Given the description of an element on the screen output the (x, y) to click on. 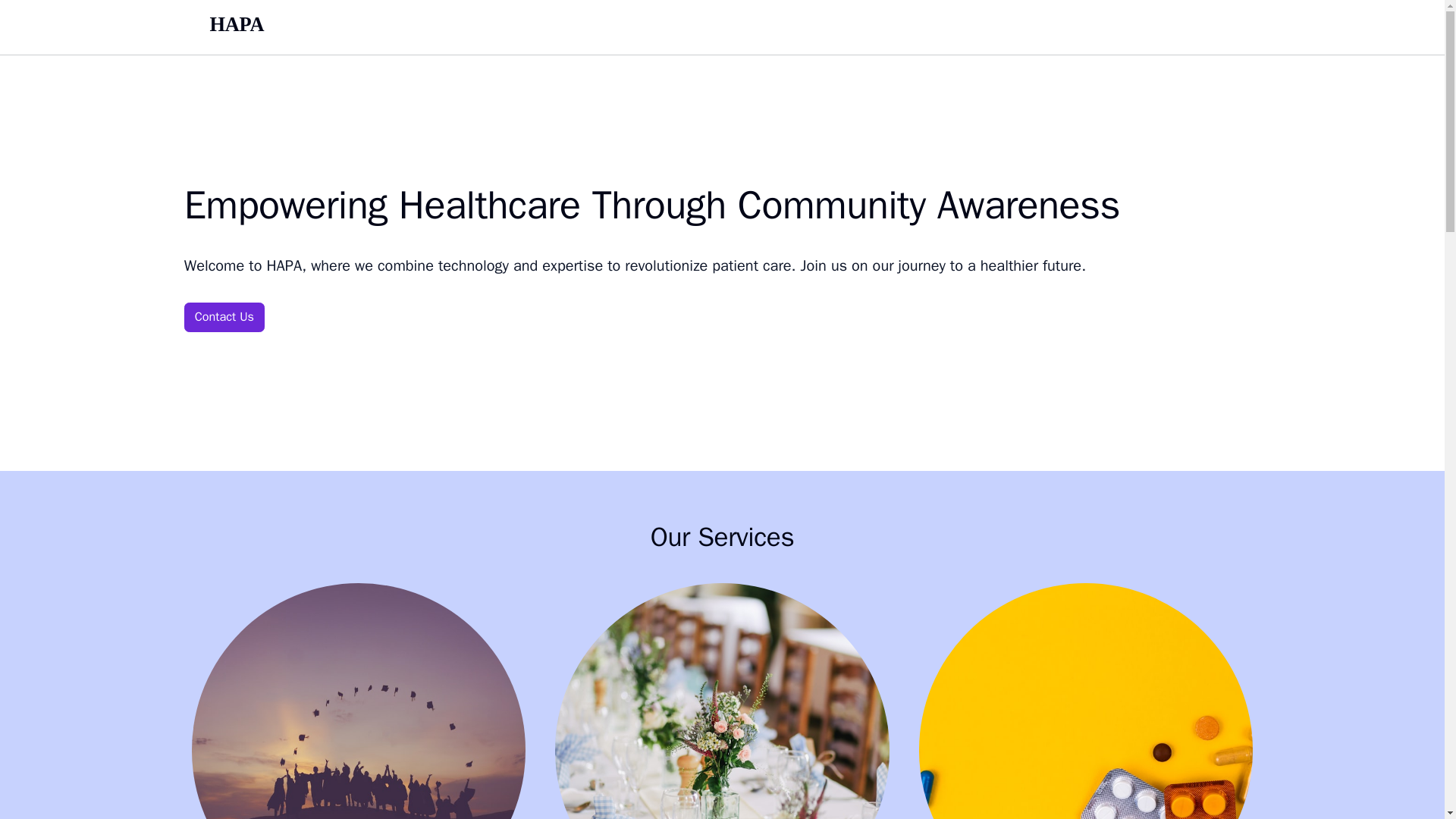
Contact Us (224, 316)
HAPA (236, 27)
